Given the description of an element on the screen output the (x, y) to click on. 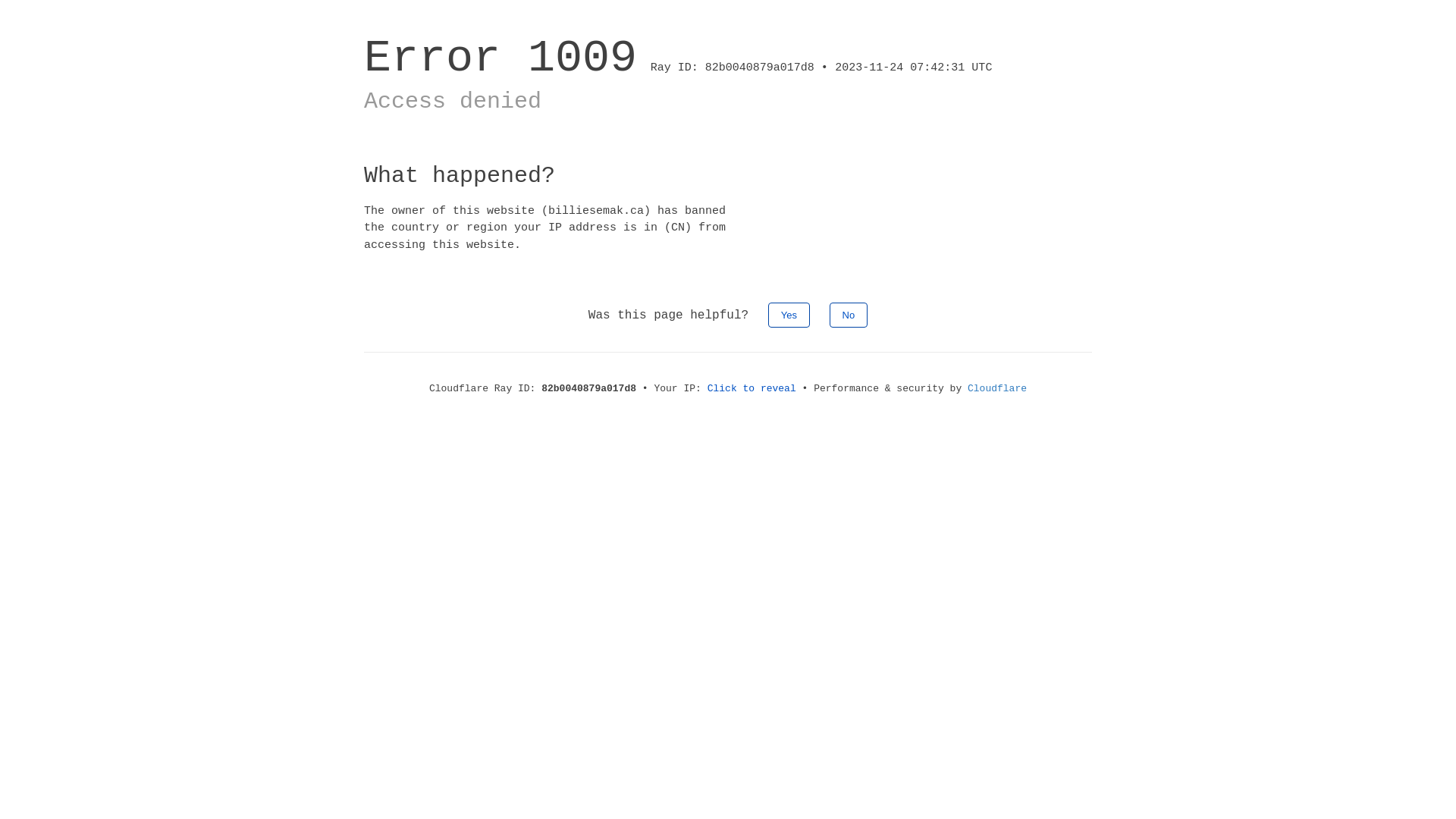
Click to reveal Element type: text (751, 388)
No Element type: text (848, 314)
Yes Element type: text (788, 314)
Cloudflare Element type: text (996, 388)
